Given the description of an element on the screen output the (x, y) to click on. 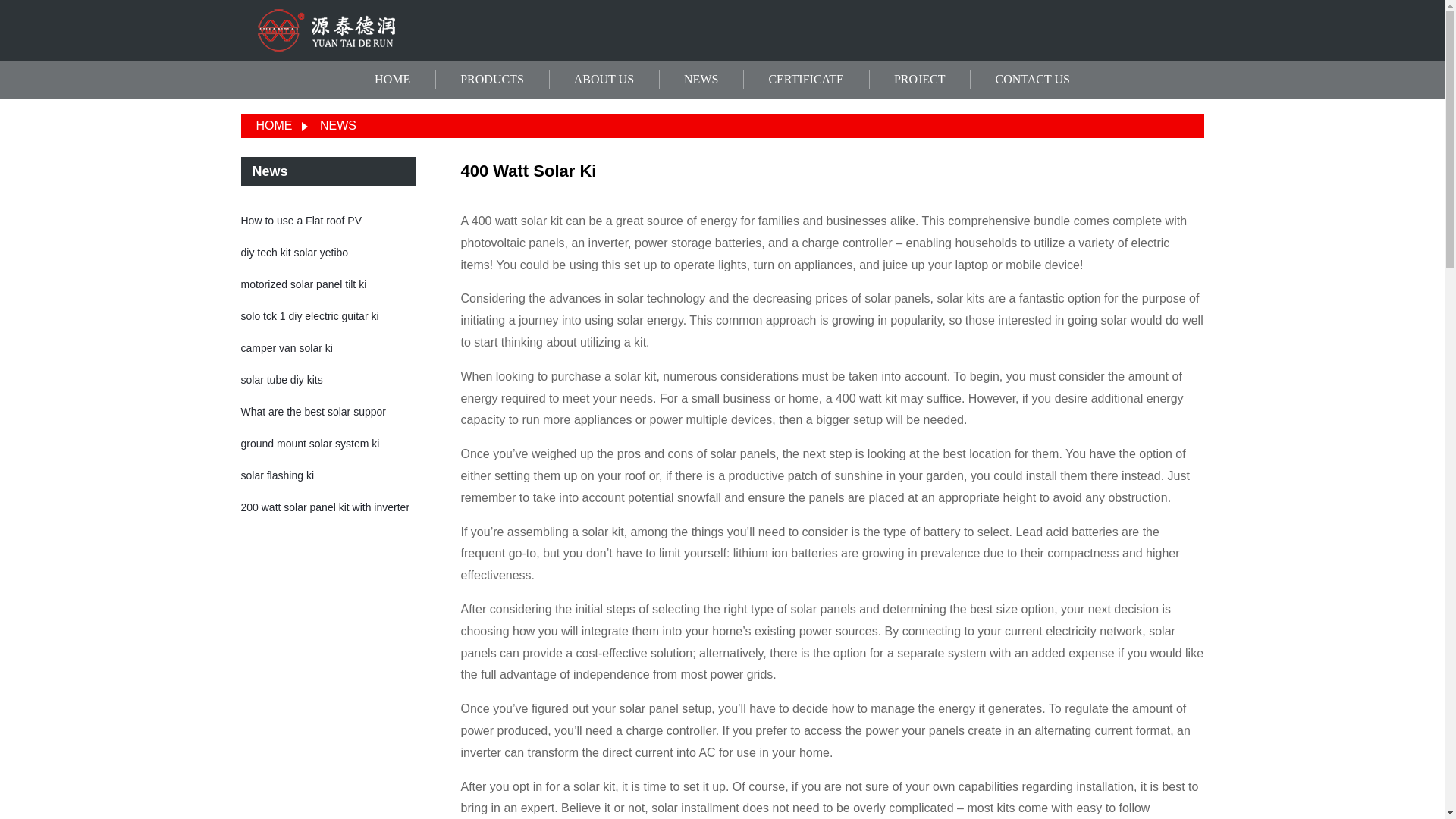
solo tck 1 diy electric guitar ki (309, 316)
motorized solar panel tilt ki (303, 284)
ground mount solar system ki (310, 443)
solar flashing ki (277, 475)
NEWS (338, 124)
What are the best solar suppor (313, 411)
CONTACT US (1031, 79)
solar tube diy kits (282, 379)
solo tck 1 diy electric guitar ki (309, 316)
solar flashing ki (277, 475)
ABOUT US (603, 79)
camper van solar ki (287, 347)
diy tech kit solar yetibo (295, 252)
NEWS (700, 79)
What are the best solar suppor (313, 411)
